Given the description of an element on the screen output the (x, y) to click on. 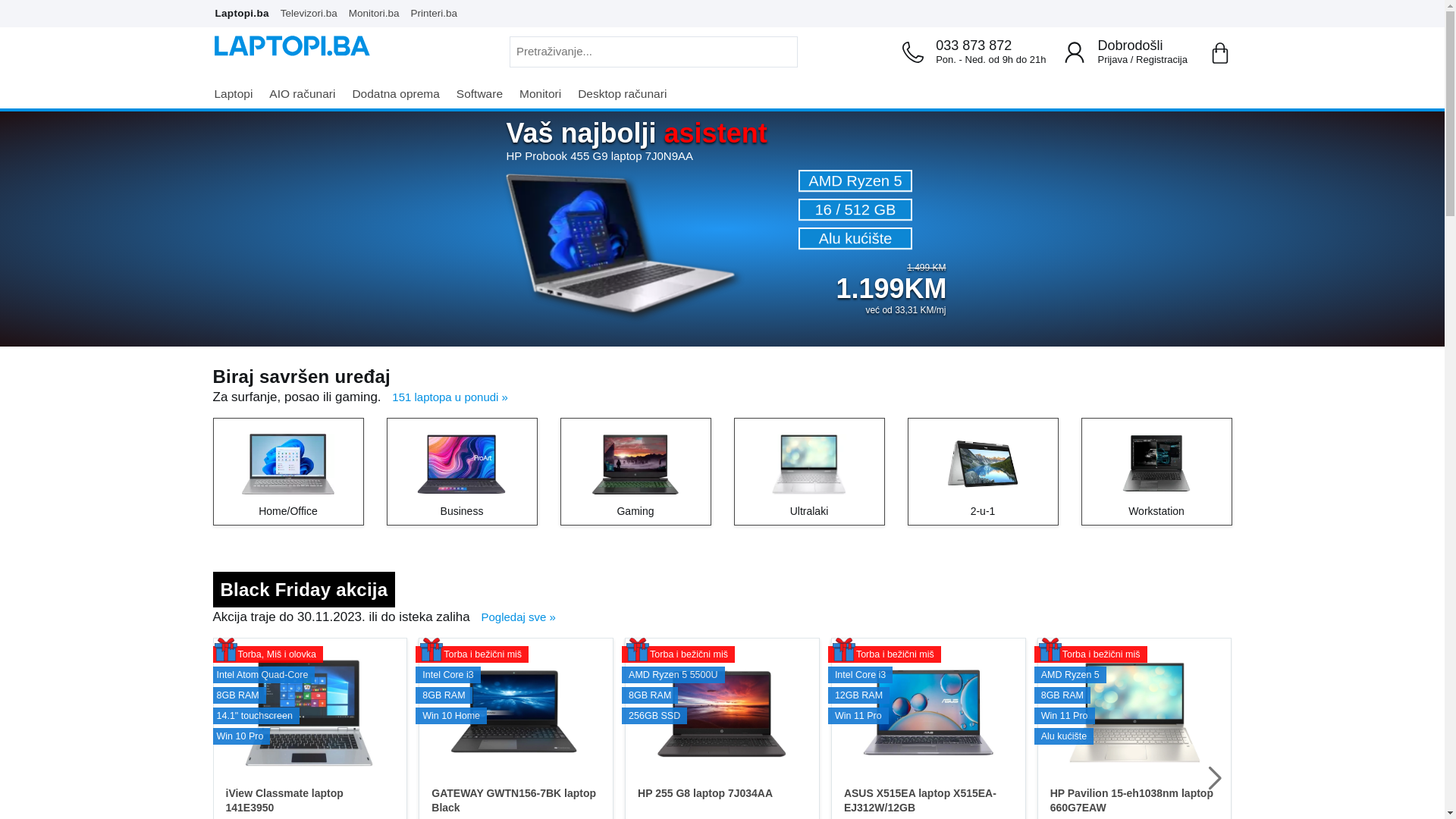
laptopi.ba Element type: hover (291, 45)
Registracija Element type: text (1161, 59)
Laptopi Element type: text (239, 93)
Business Element type: text (461, 471)
Neodoljiva ponuda Element type: text (721, 433)
Prijava Element type: text (1112, 59)
Dodatna oprema Element type: text (402, 93)
Televizori.ba Element type: text (312, 10)
Laptopi.ba Element type: text (244, 10)
Monitori Element type: text (546, 93)
2-u-1 Element type: text (982, 471)
Workstation Element type: text (1155, 471)
Gaming Element type: text (635, 471)
Telefonske narudzbe Element type: hover (912, 51)
Prijava ili registracija Element type: hover (1074, 51)
033 873 872 Element type: text (990, 45)
Software Element type: text (486, 93)
Printeri.ba Element type: text (437, 10)
Monitori.ba Element type: text (377, 10)
Ultralaki Element type: text (808, 471)
Home/Office Element type: text (288, 471)
